Given the description of an element on the screen output the (x, y) to click on. 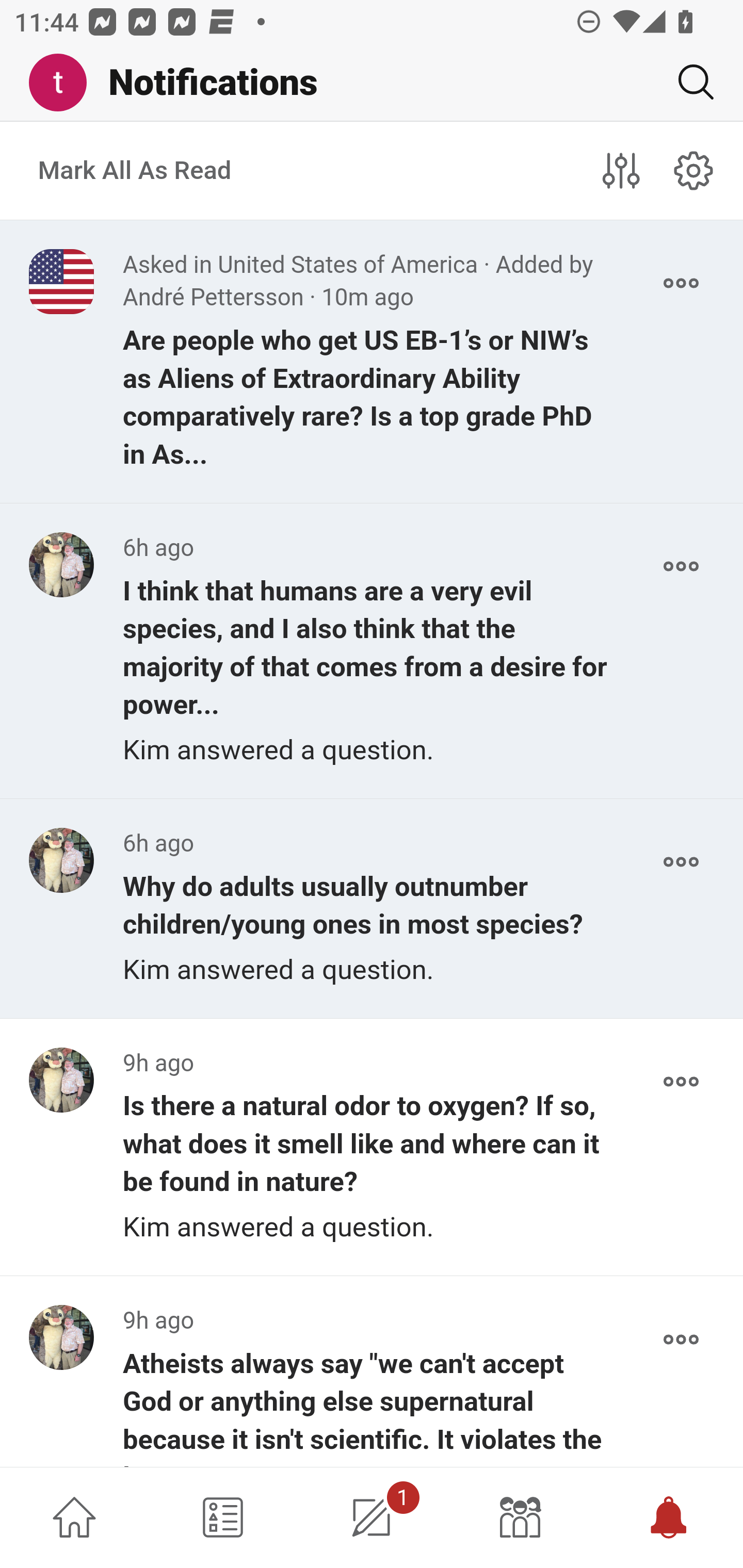
Me (64, 83)
Search (688, 82)
Mark All As Read (135, 171)
notifications# (693, 170)
More (681, 282)
More (681, 566)
More (681, 862)
More (681, 1080)
More (681, 1339)
1 (371, 1517)
